Given the description of an element on the screen output the (x, y) to click on. 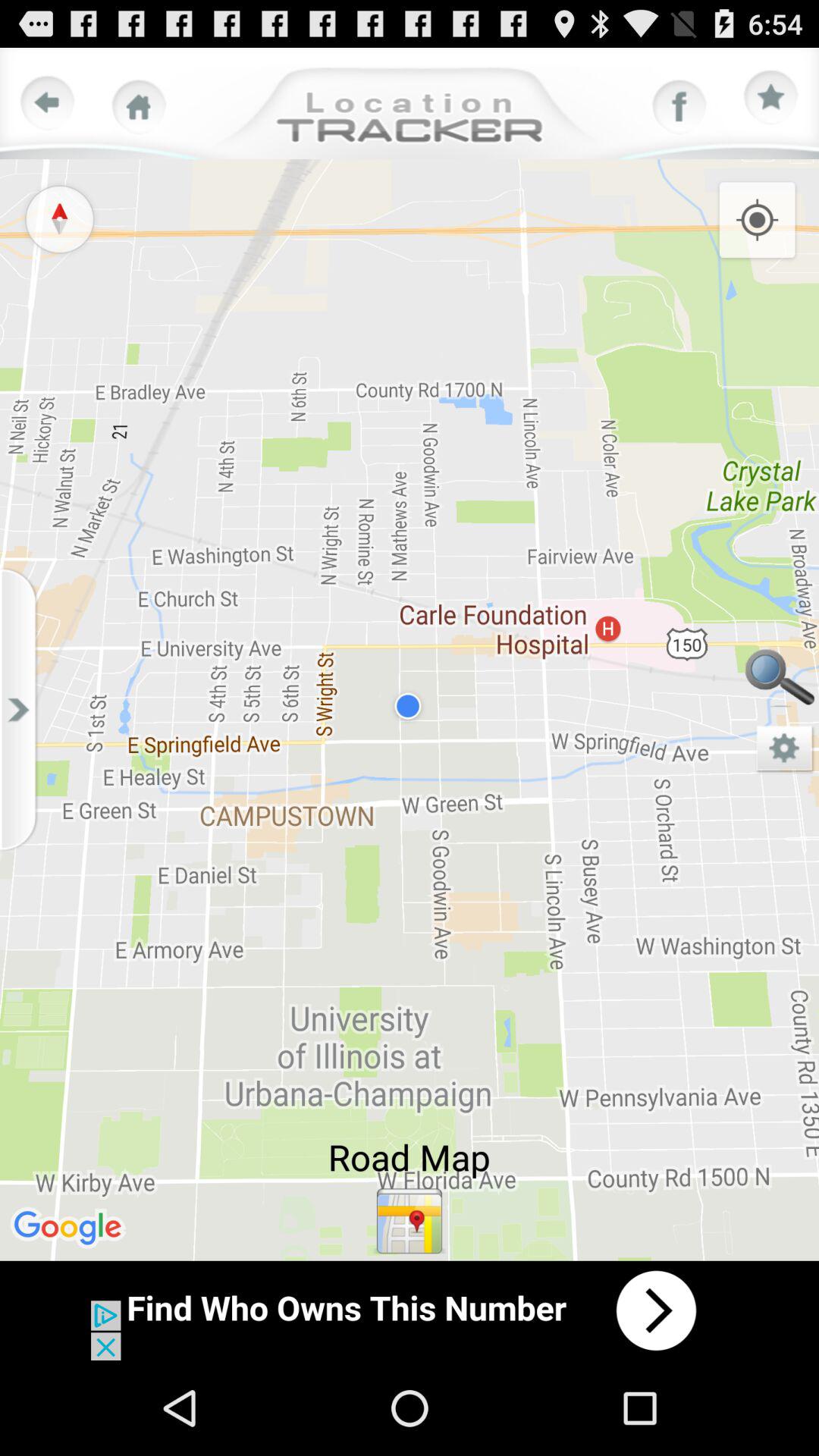
learn about this product (409, 1310)
